Given the description of an element on the screen output the (x, y) to click on. 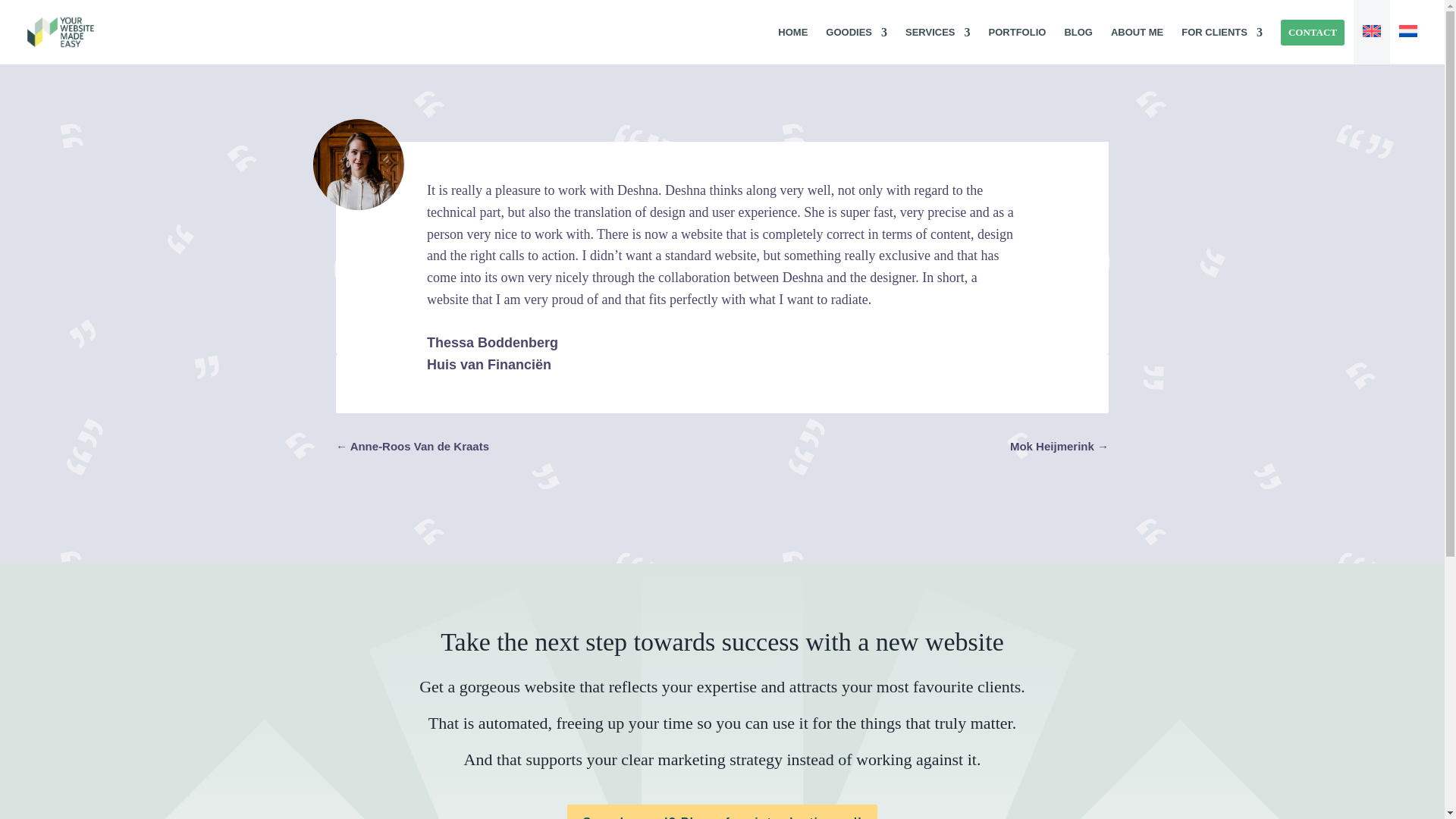
FOR CLIENTS (1221, 32)
SERVICES (938, 32)
GOODIES (855, 32)
Sounds good? Plan a free introduction call (721, 811)
PORTFOLIO (1017, 32)
Barbara (358, 163)
